Given the description of an element on the screen output the (x, y) to click on. 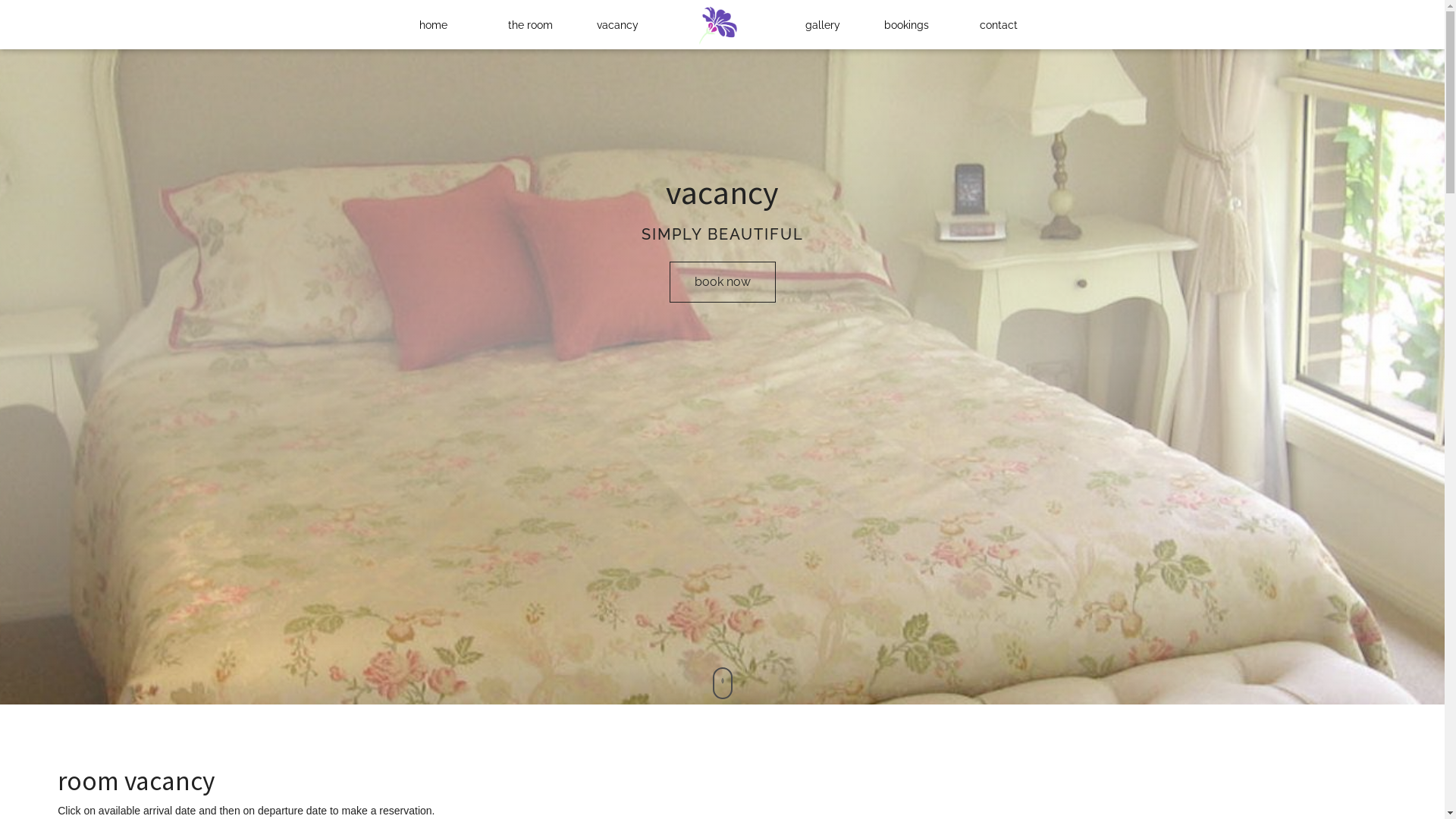
contact Element type: text (998, 24)
vacancy Element type: text (617, 24)
book now Element type: text (721, 281)
gallery Element type: text (822, 24)
home Element type: text (432, 24)
Startup Element type: hover (717, 24)
the room Element type: text (530, 24)
bookings Element type: text (906, 24)
